Given the description of an element on the screen output the (x, y) to click on. 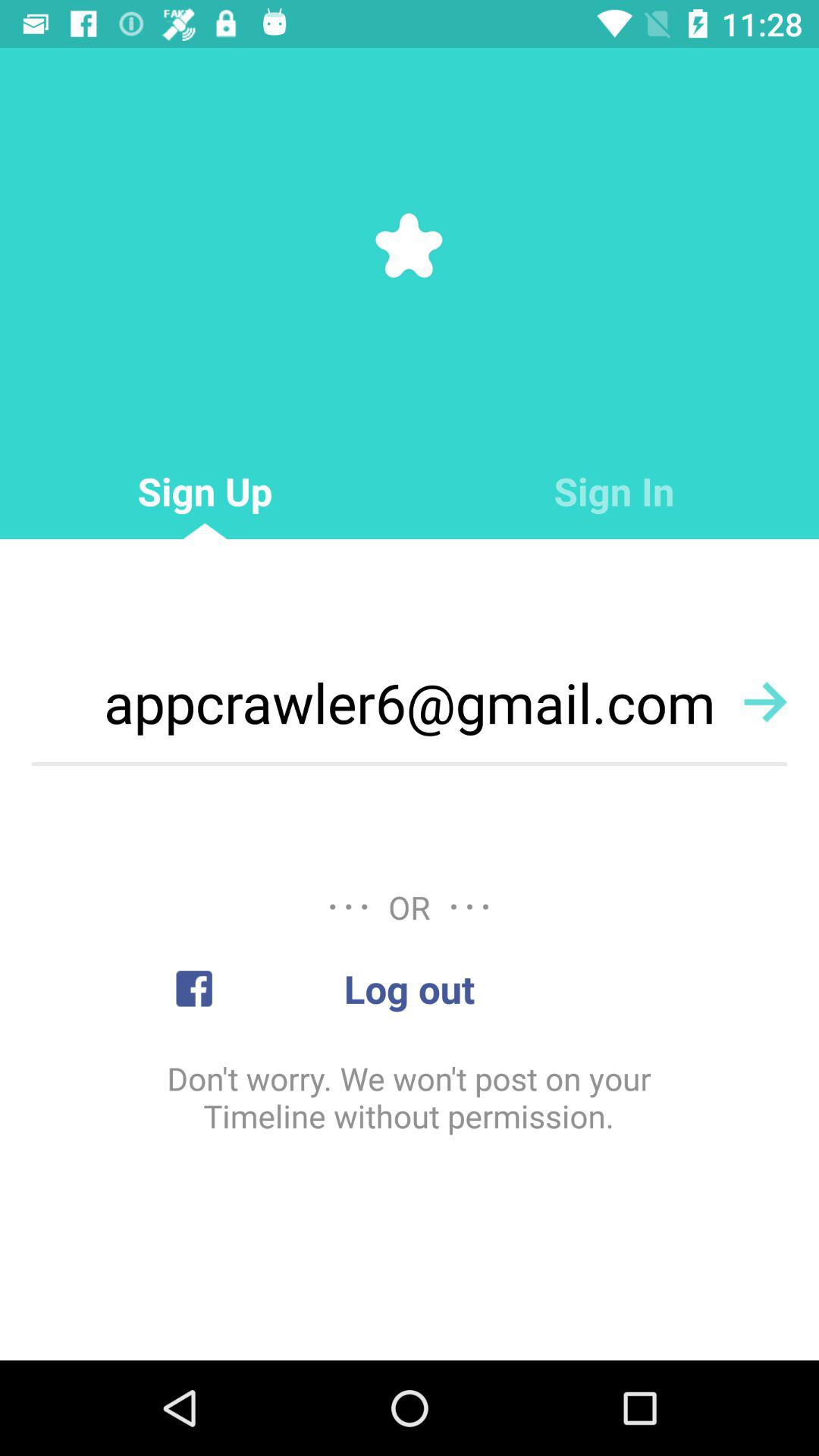
open the item to the right of sign up item (614, 491)
